Given the description of an element on the screen output the (x, y) to click on. 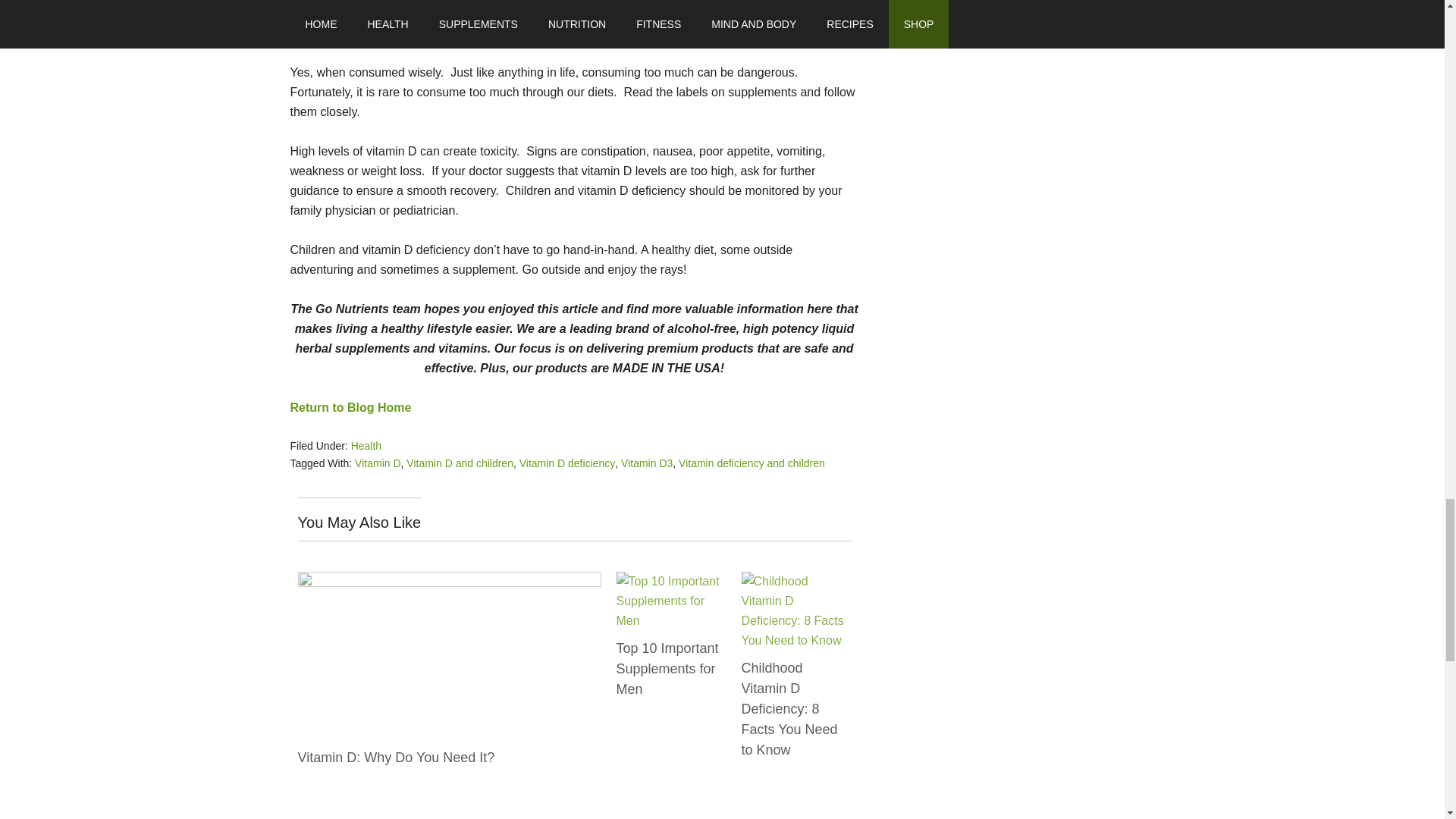
Vitamin D deficiency (567, 463)
Vitamin D and children (459, 463)
Permanent Link to Vitamin D:  Why Do You Need It? (448, 581)
Health (365, 445)
Permanent Link to Vitamin D:  Why Do You Need It? (396, 757)
Return to Blog Home (349, 407)
Permanent Link to Top 10 Important Supplements for Men (670, 581)
Permanent Link to Top 10 Important Supplements for Men (666, 668)
Vitamin D (377, 463)
